Given the description of an element on the screen output the (x, y) to click on. 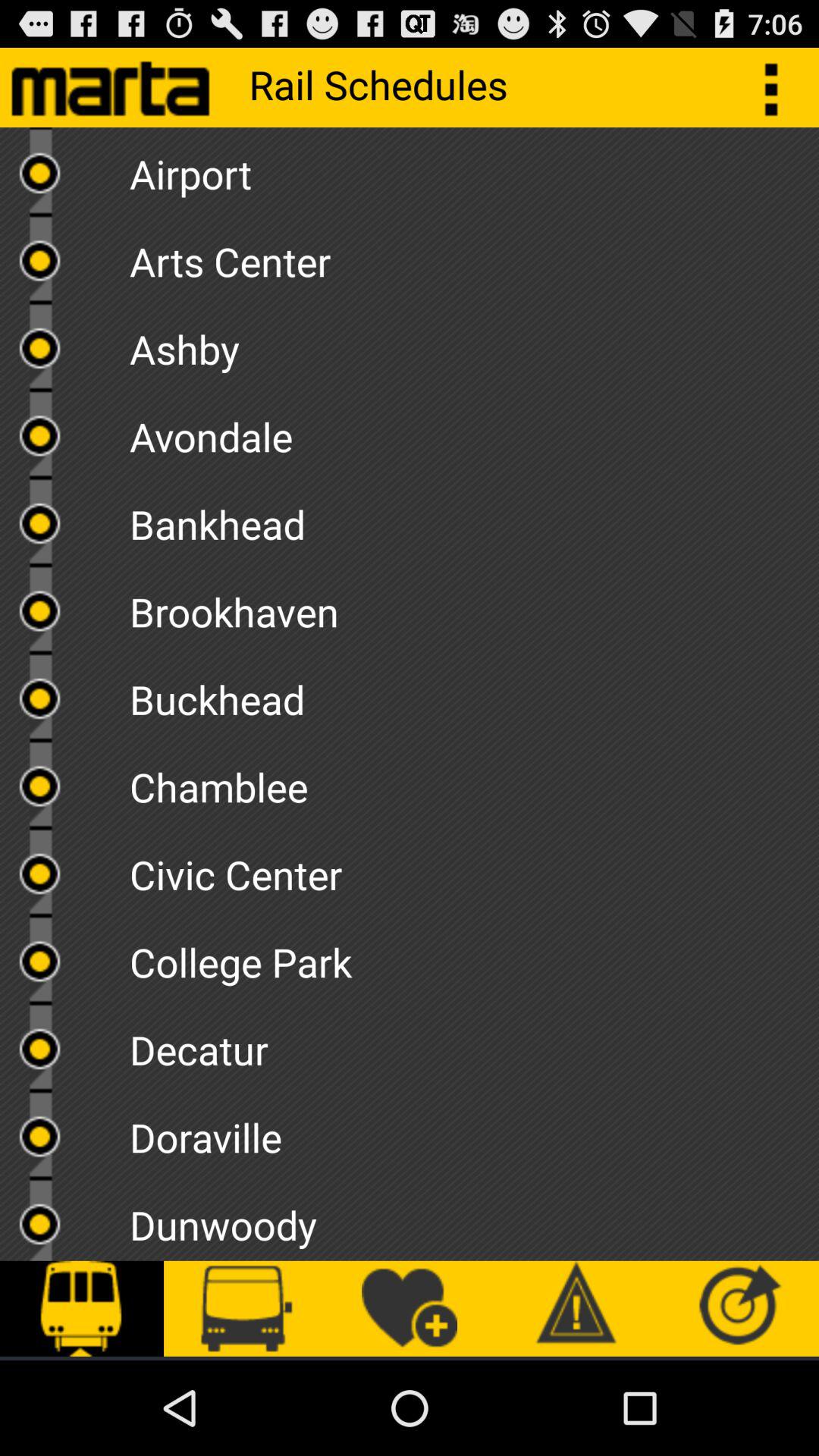
select the icon below the buckhead item (474, 781)
